Given the description of an element on the screen output the (x, y) to click on. 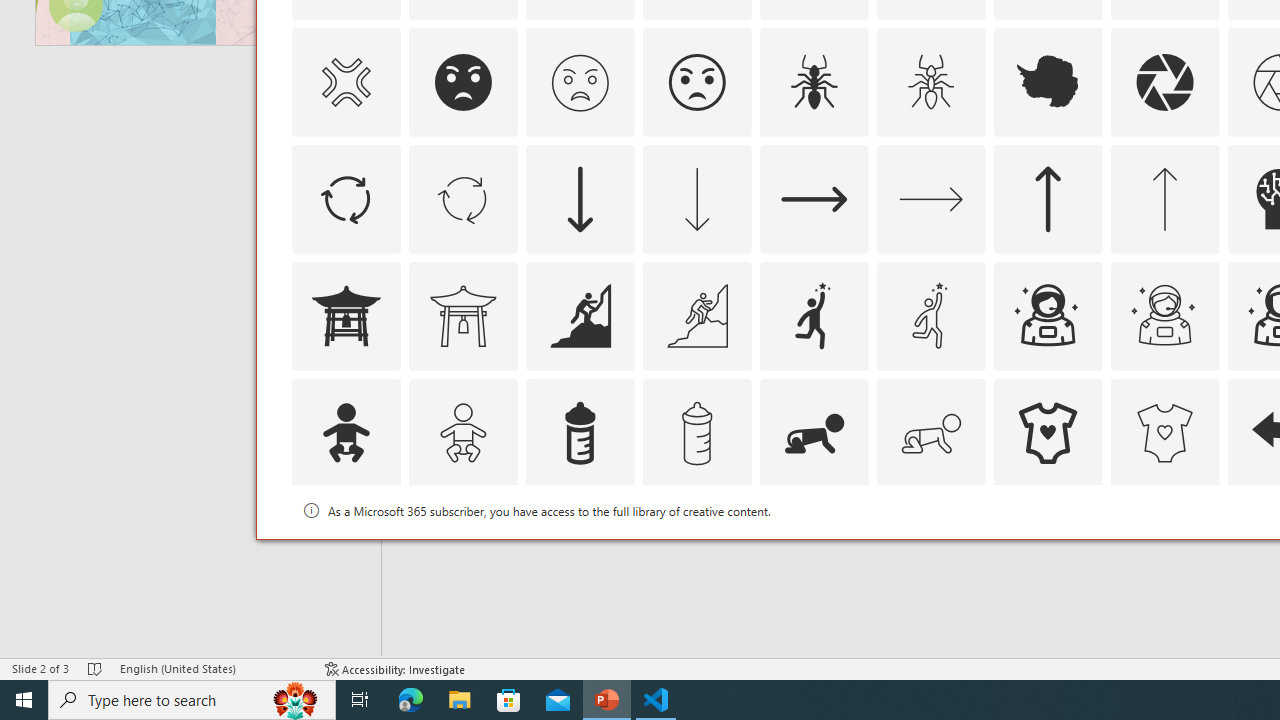
AutomationID: Icons_Badge10_M (345, 550)
AutomationID: Icons_AstronautFemale_M (1164, 316)
AutomationID: Icons_AngryFace_M (579, 82)
AutomationID: Icons_AsianTemple1_M (463, 316)
AutomationID: Icons_ArrowUp (1048, 198)
AutomationID: Icons_AstronautFemale (1048, 316)
